Given the description of an element on the screen output the (x, y) to click on. 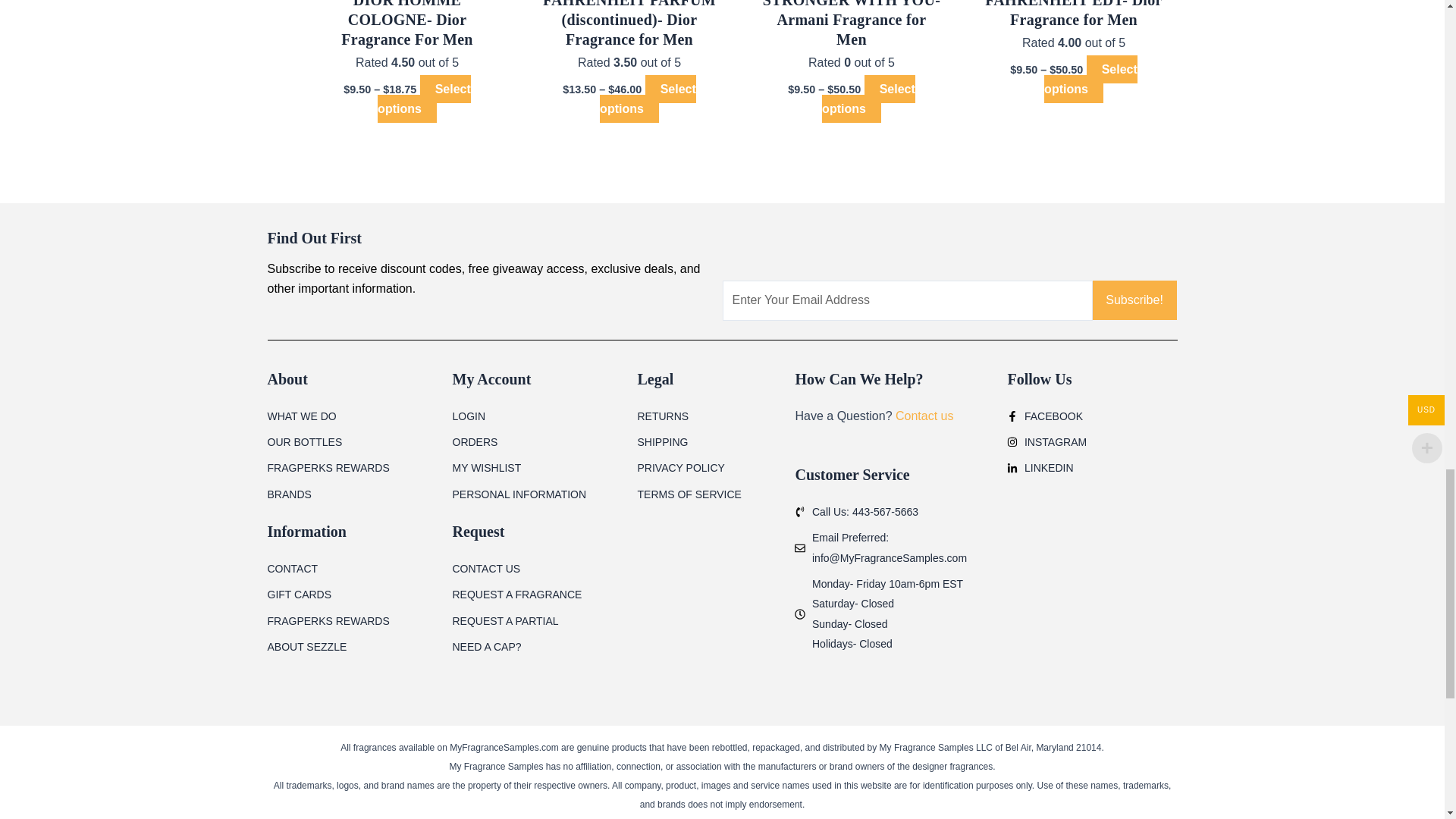
Enter Your Email Address (907, 300)
Subscribe! (1134, 300)
